Given the description of an element on the screen output the (x, y) to click on. 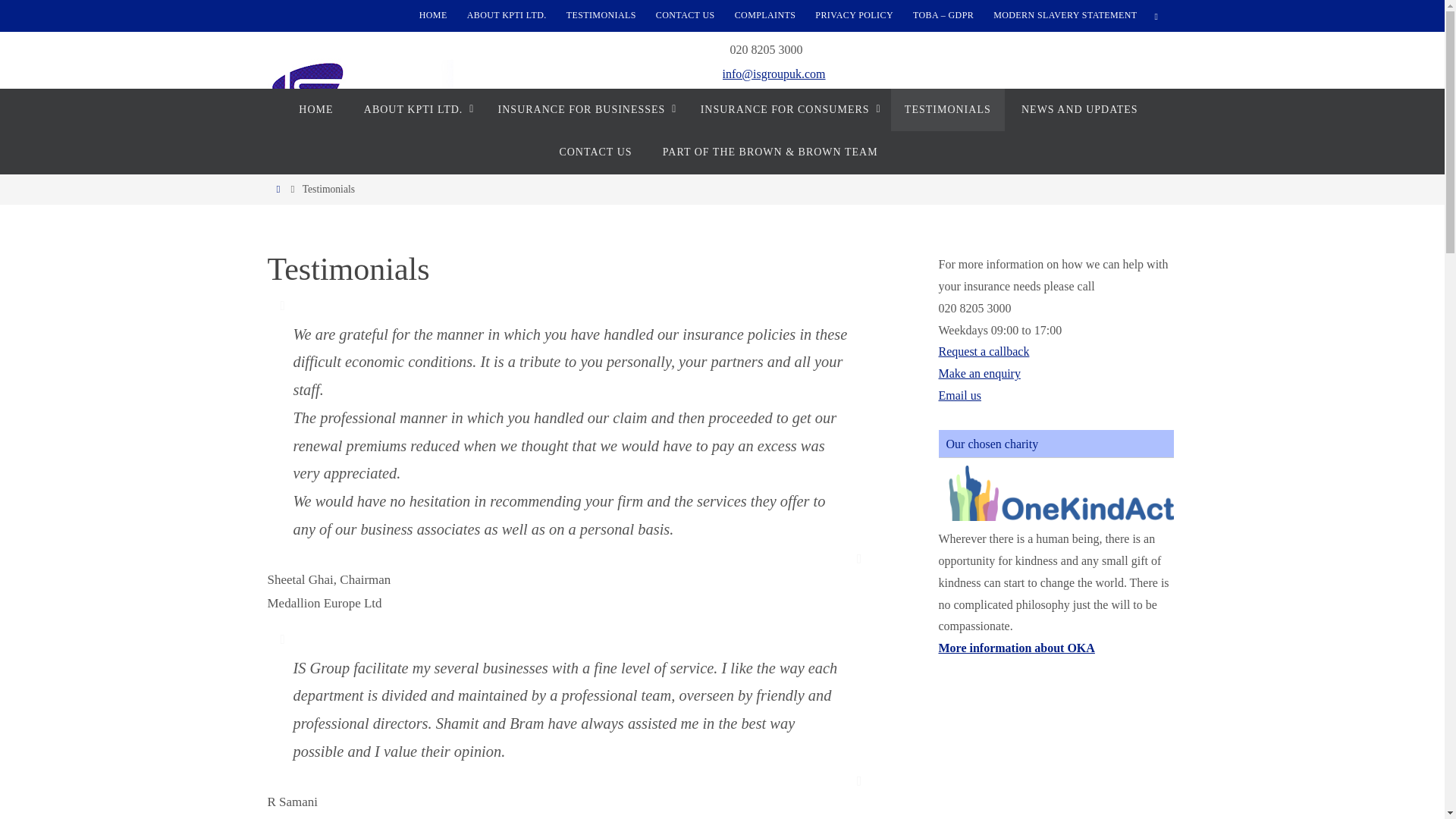
ABOUT KPTI LTD. (415, 109)
MODERN SLAVERY STATEMENT (1064, 14)
COMPLAINTS (764, 14)
INSURANCE FOR CONSUMERS (787, 109)
TESTIMONIALS (601, 14)
IS Group UK (359, 93)
CONTACT US (684, 14)
HOME (433, 14)
HOME (315, 109)
INSURANCE FOR BUSINESSES (584, 109)
ABOUT KPTI LTD. (507, 14)
PRIVACY POLICY (854, 14)
